Given the description of an element on the screen output the (x, y) to click on. 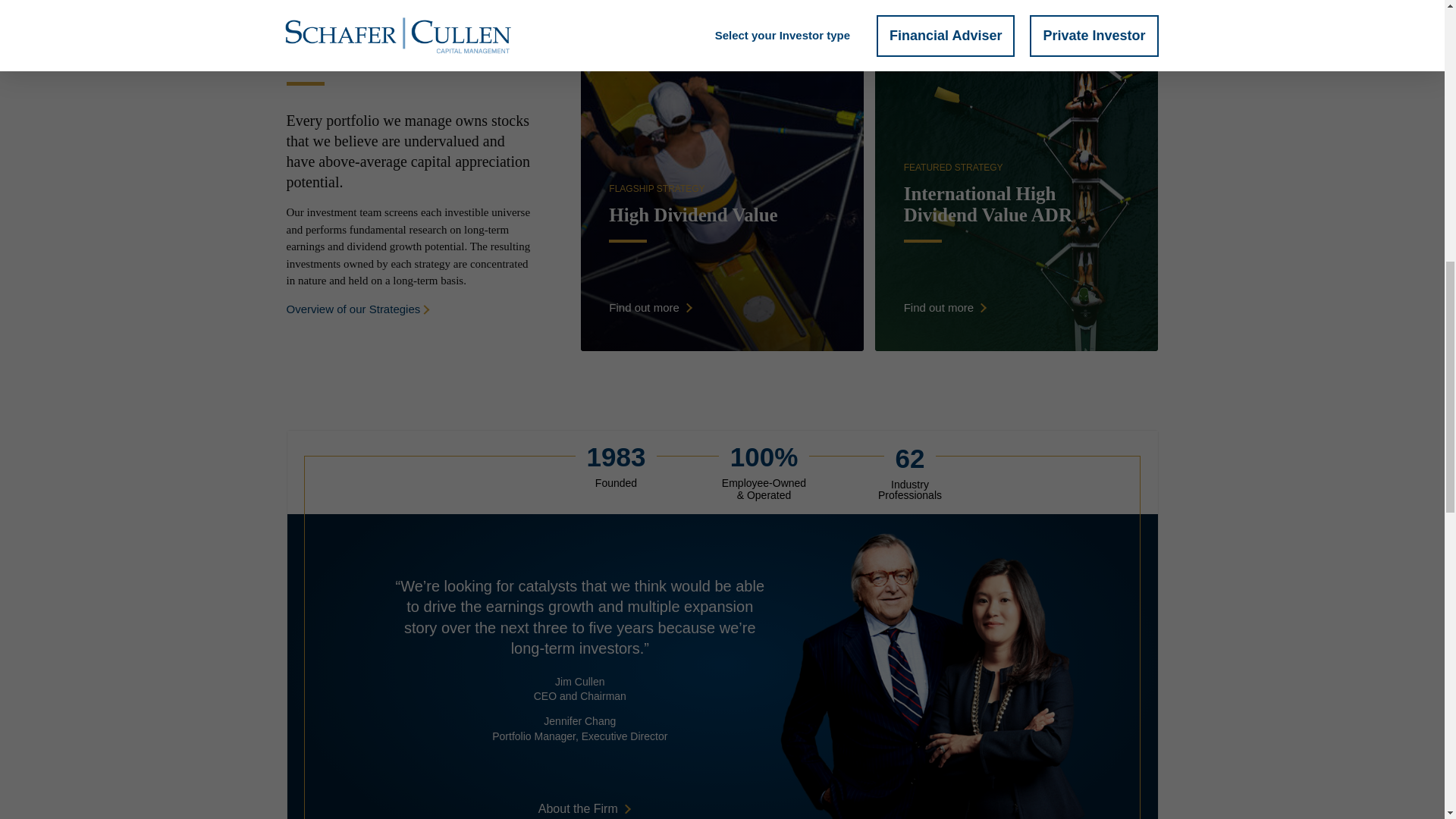
About the Firm (721, 201)
Overview of our Strategies (583, 809)
